Given the description of an element on the screen output the (x, y) to click on. 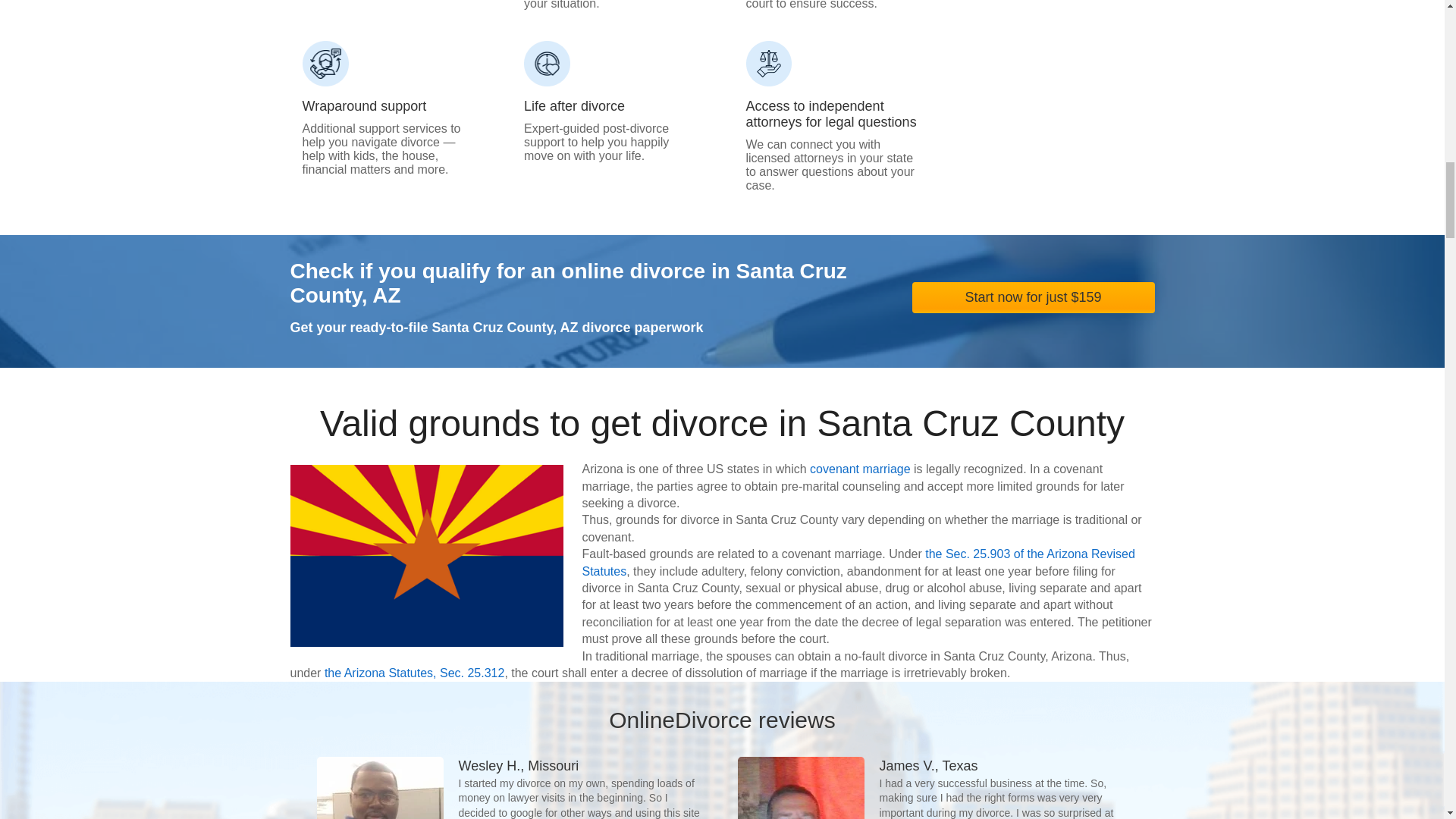
the Arizona Statutes, Sec. 25.312 (414, 672)
covenant marriage (860, 468)
the Sec. 25.903 of the Arizona Revised Statutes (858, 562)
